Given the description of an element on the screen output the (x, y) to click on. 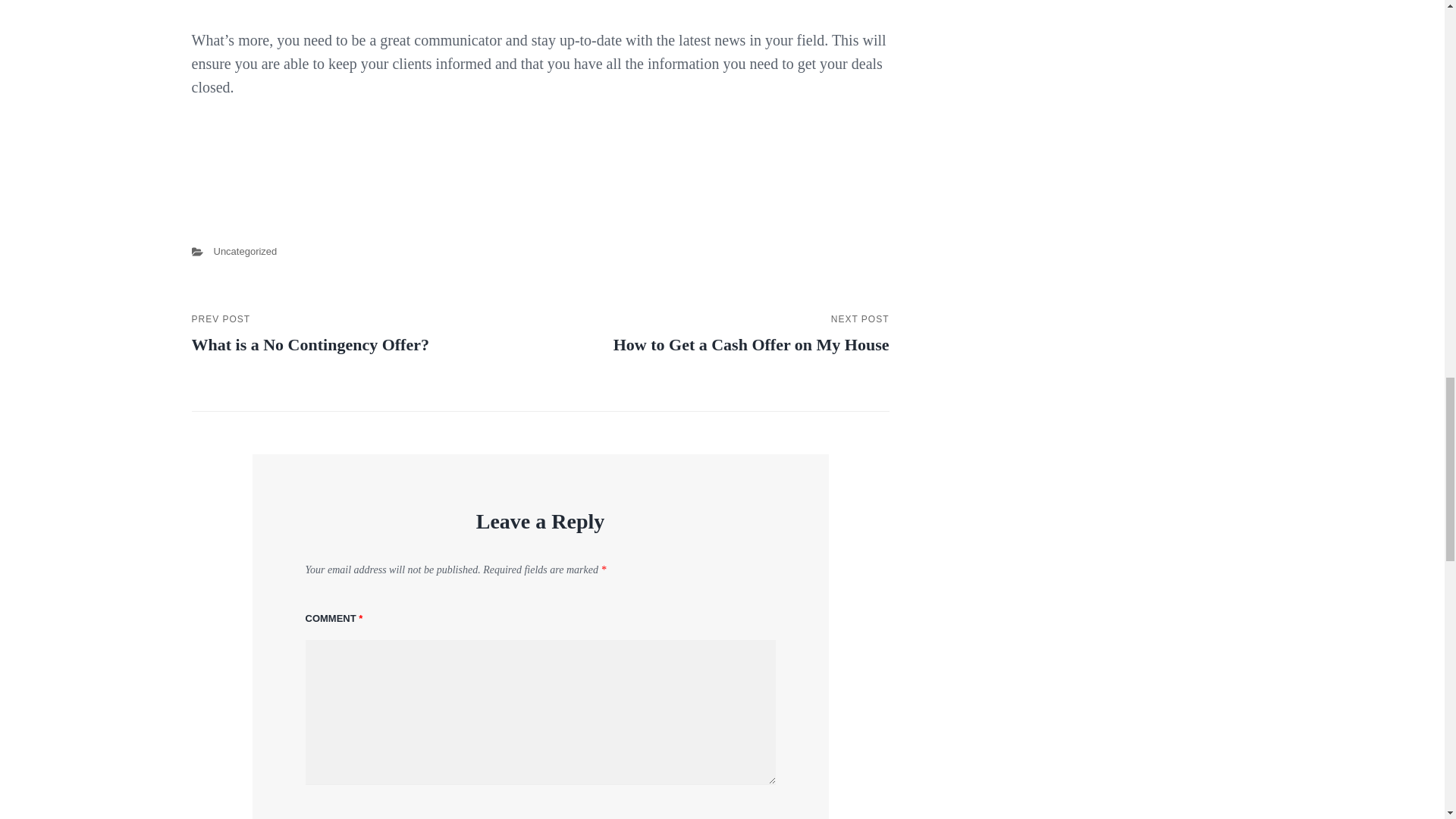
Uncategorized (357, 334)
